Given the description of an element on the screen output the (x, y) to click on. 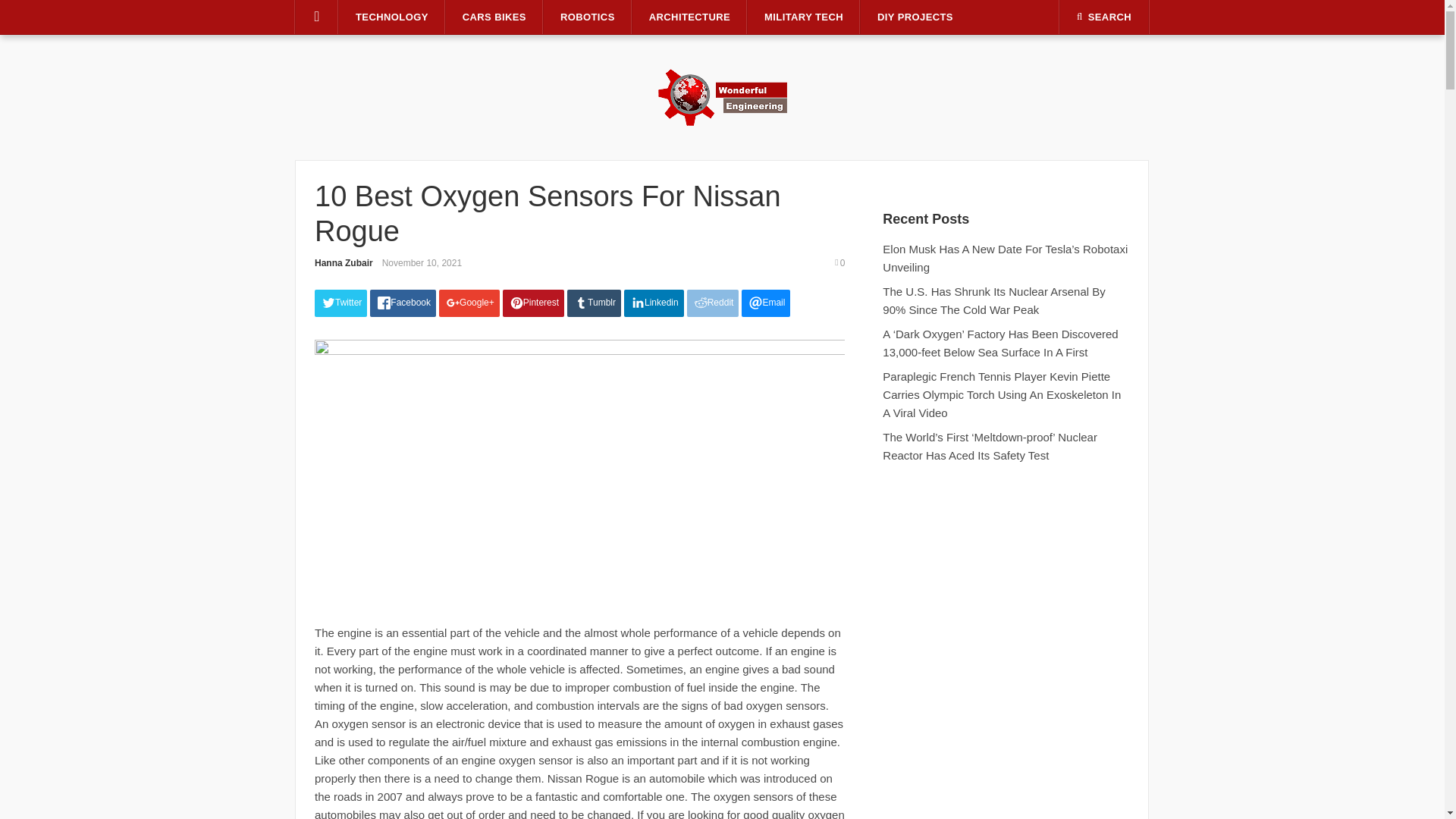
ROBOTICS (587, 17)
Facebook (402, 302)
CARS BIKES (494, 17)
Email (765, 302)
Reddit (713, 302)
TECHNOLOGY (392, 17)
Hanna Zubair (343, 262)
DIY PROJECTS (914, 17)
Pinterest (533, 302)
Wonderful Engineering (722, 95)
MILITARY TECH (804, 17)
Tumblr (594, 302)
Linkedin (654, 302)
SEARCH (1104, 16)
Twitter (340, 302)
